Given the description of an element on the screen output the (x, y) to click on. 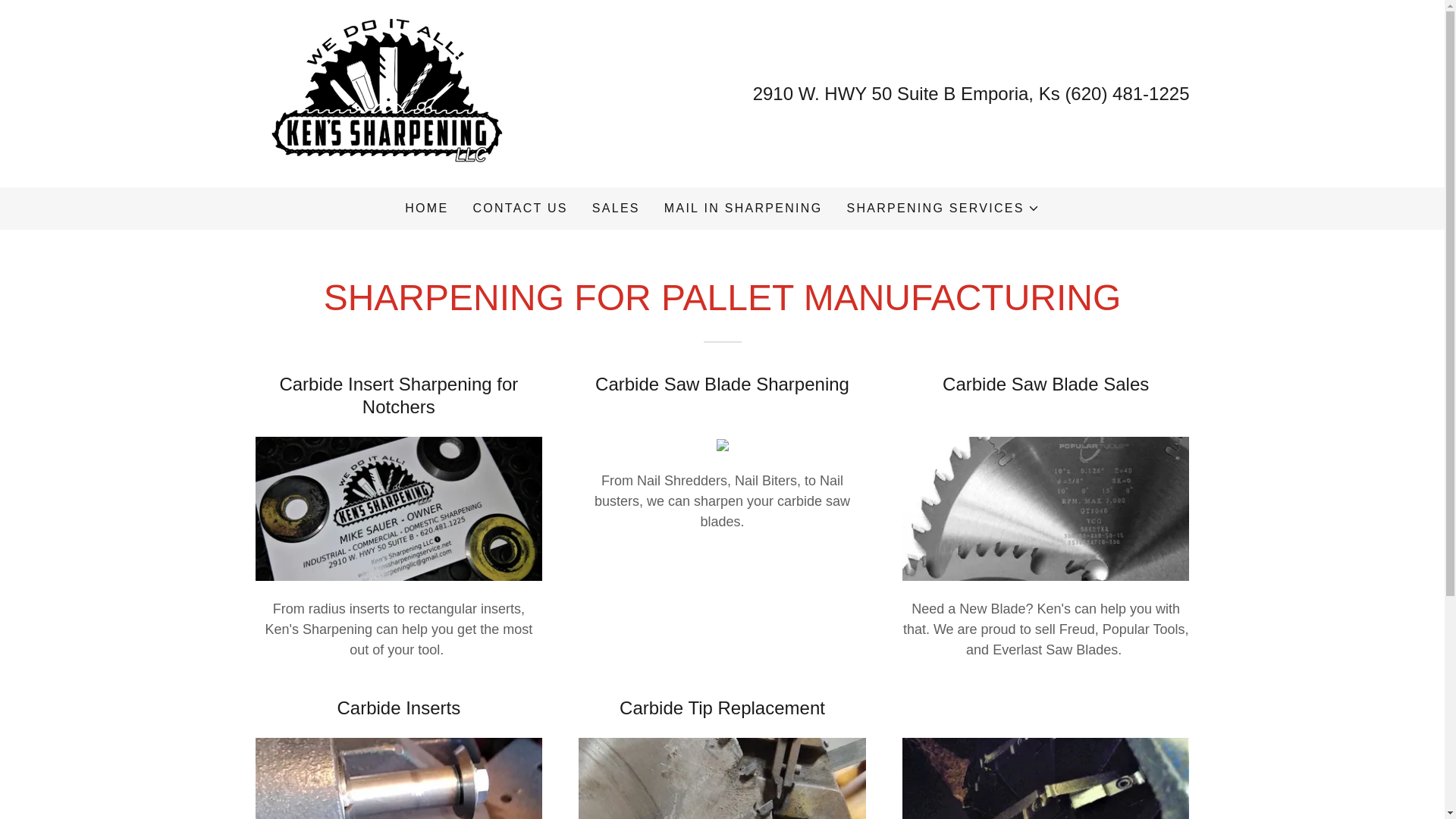
CONTACT US (519, 207)
HOME (426, 207)
MAIL IN SHARPENING (381, 92)
SHARPENING SERVICES (743, 207)
2910 (942, 208)
SALES (772, 93)
